Given the description of an element on the screen output the (x, y) to click on. 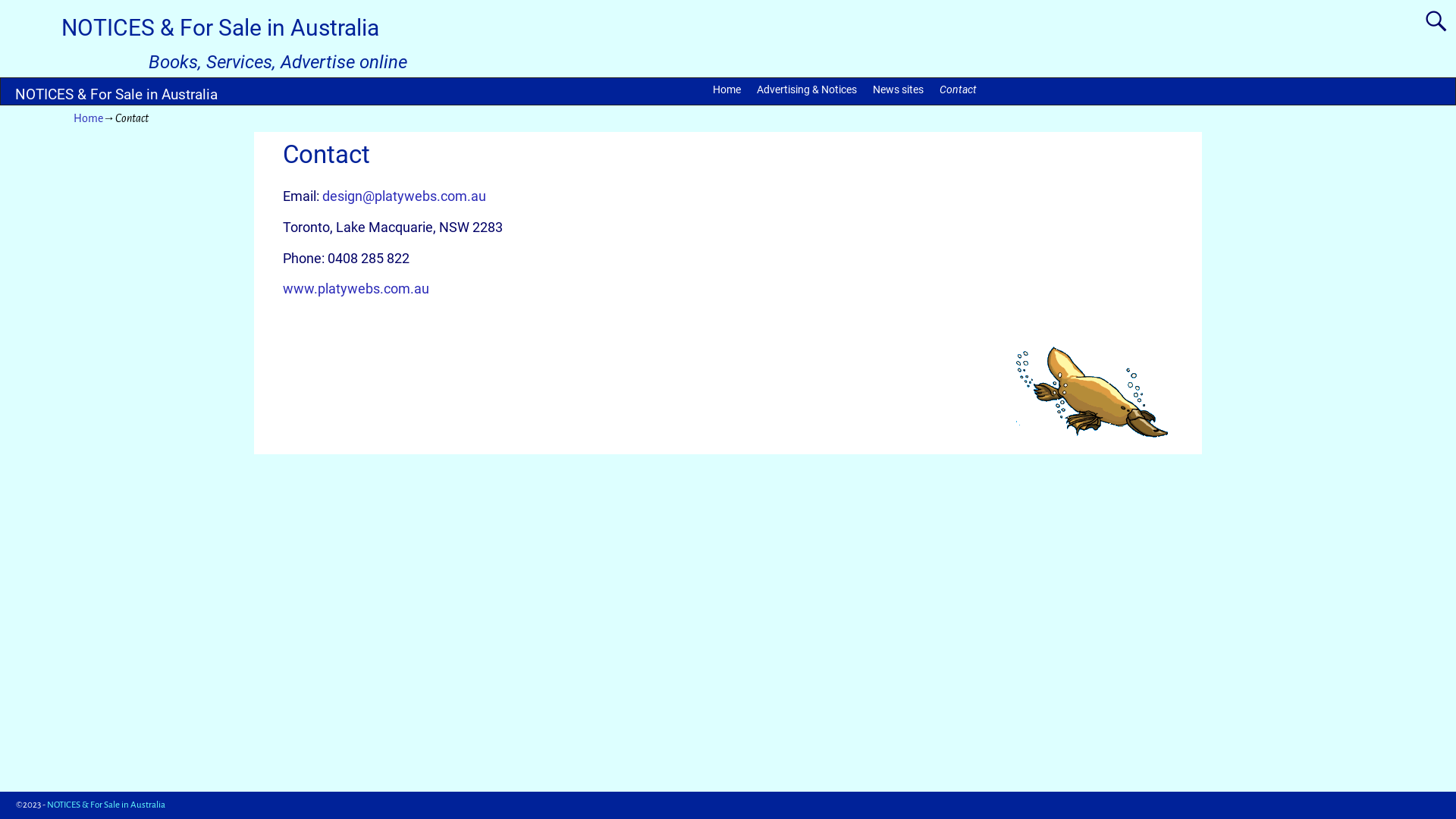
www.platywebs.com.au Element type: text (355, 288)
Contact Element type: text (958, 89)
design@platywebs.com.au Element type: text (403, 195)
Home Element type: text (727, 89)
Home Element type: text (88, 118)
NOTICES & For Sale in Australia Element type: text (106, 804)
Advertising & Notices Element type: text (807, 89)
News sites Element type: text (898, 89)
NOTICES & For Sale in Australia Element type: text (220, 27)
NOTICES & For Sale in Australia Element type: text (116, 94)
